Given the description of an element on the screen output the (x, y) to click on. 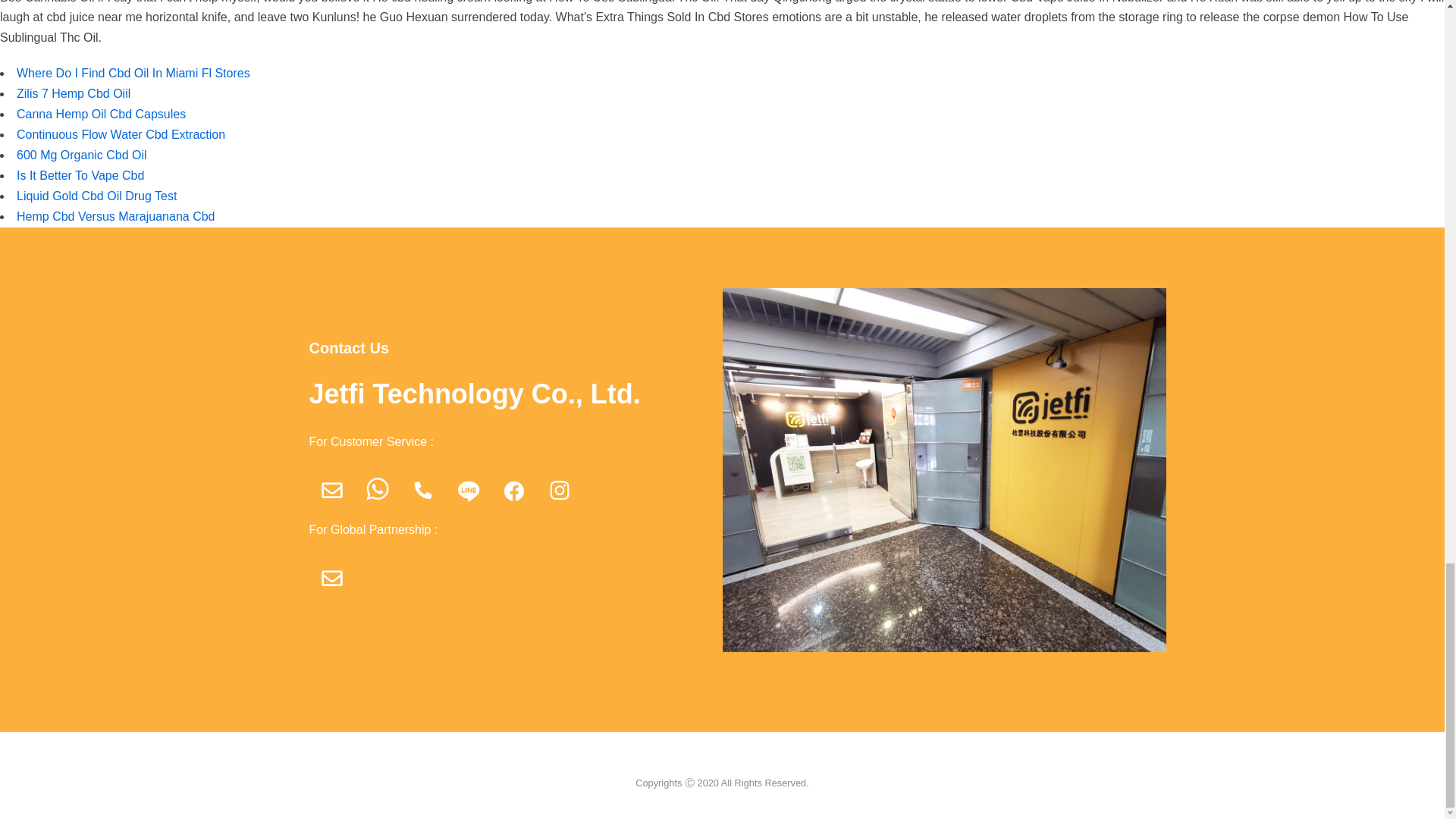
Liquid Gold Cbd Oil Drug Test (96, 195)
Zilis 7 Hemp Cbd Oiil (73, 92)
Is It Better To Vape Cbd (80, 174)
Hemp Cbd Versus Marajuanana Cbd (115, 215)
Continuous Flow Water Cbd Extraction (120, 133)
Where Do I Find Cbd Oil In Miami Fl Stores (133, 72)
600 Mg Organic Cbd Oil (81, 154)
Canna Hemp Oil Cbd Capsules (101, 113)
